Given the description of an element on the screen output the (x, y) to click on. 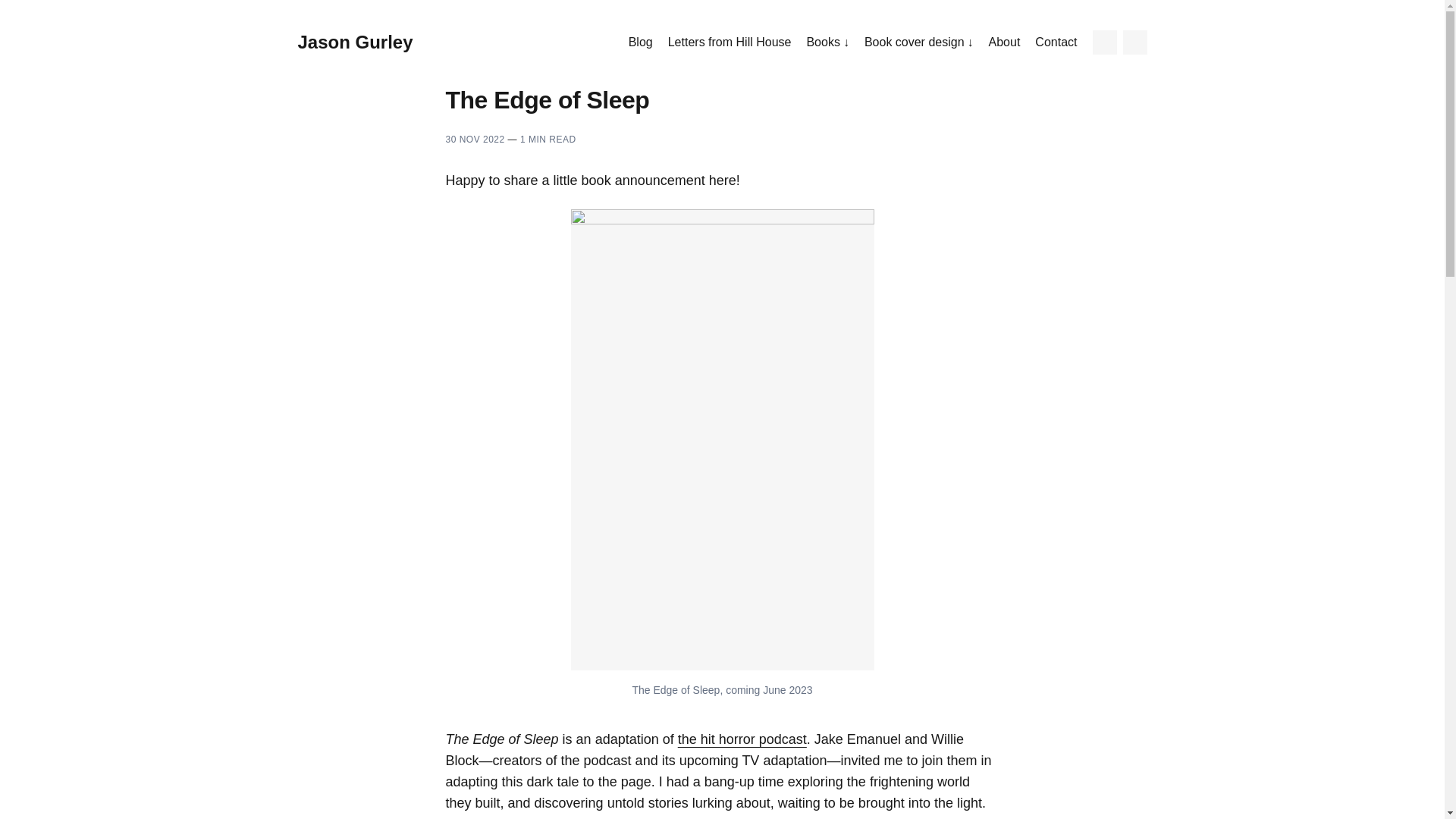
Instagram (1104, 42)
Search (1134, 42)
Book cover design (919, 42)
Jason Gurley (354, 42)
Letters from Hill House (730, 42)
Books (827, 42)
Contact (1056, 42)
About (1004, 42)
Blog (640, 42)
the hit horror podcast (742, 739)
